Given the description of an element on the screen output the (x, y) to click on. 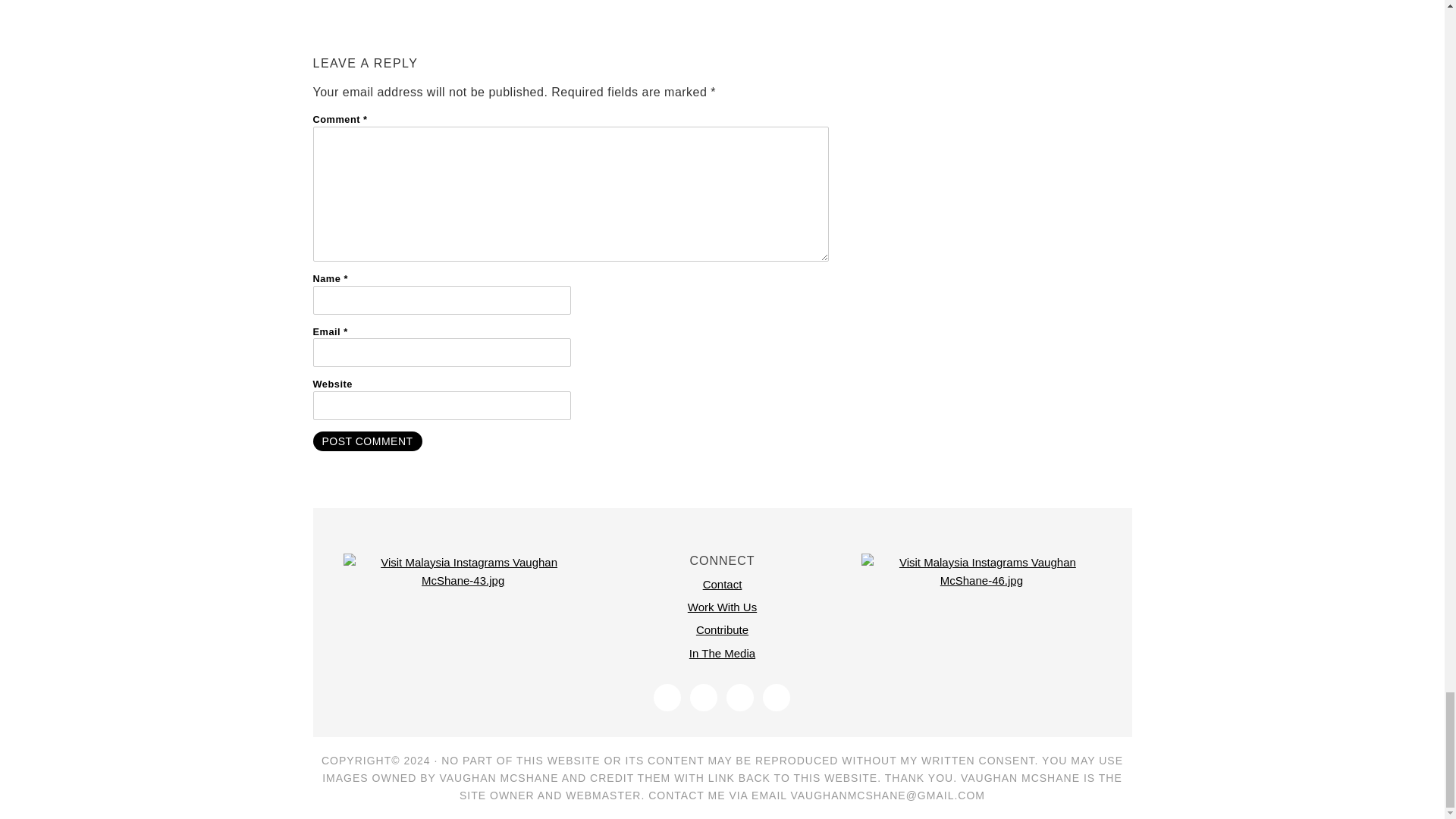
Post Comment (367, 441)
